Given the description of an element on the screen output the (x, y) to click on. 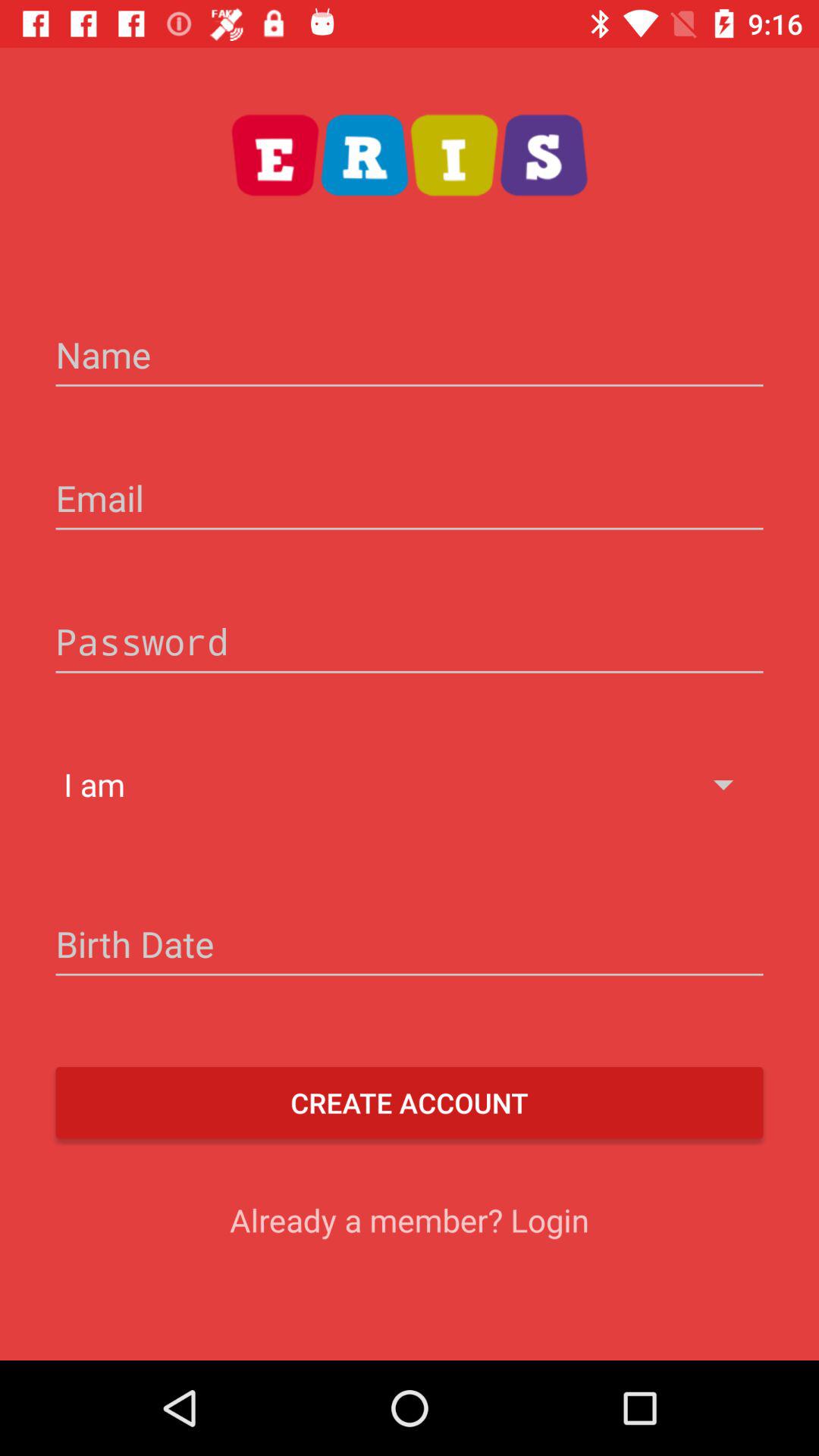
choose the icon above i am item (409, 643)
